Given the description of an element on the screen output the (x, y) to click on. 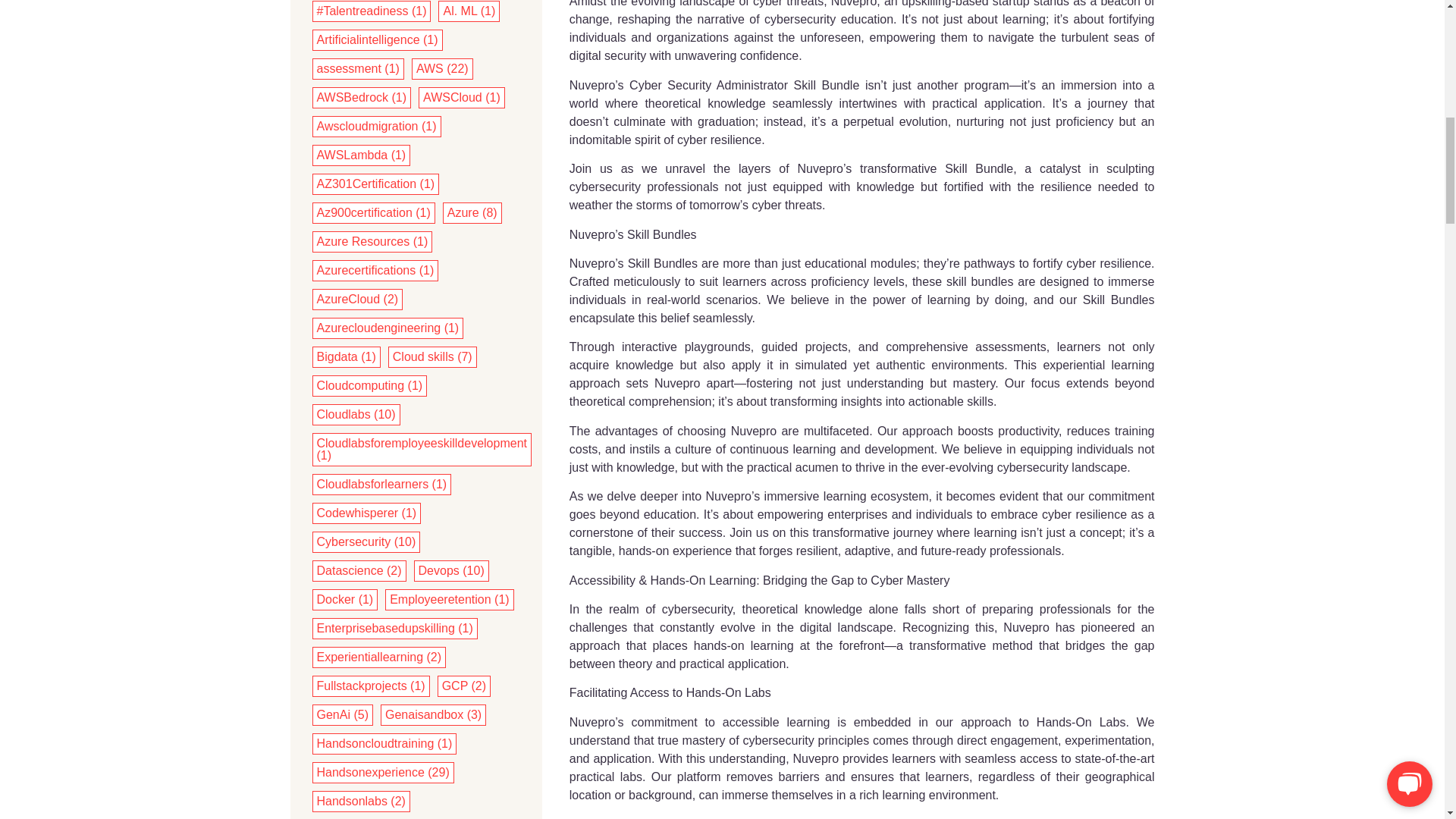
Awscloudmigration (376, 126)
Azure (471, 213)
assessment (357, 69)
AWS (442, 69)
AWSLambda (361, 155)
Az900certification (373, 213)
AWSCloud (461, 97)
Artificialintelligence (377, 39)
AZ301Certification (376, 184)
Al. ML (468, 10)
AWSBedrock (362, 97)
